Given the description of an element on the screen output the (x, y) to click on. 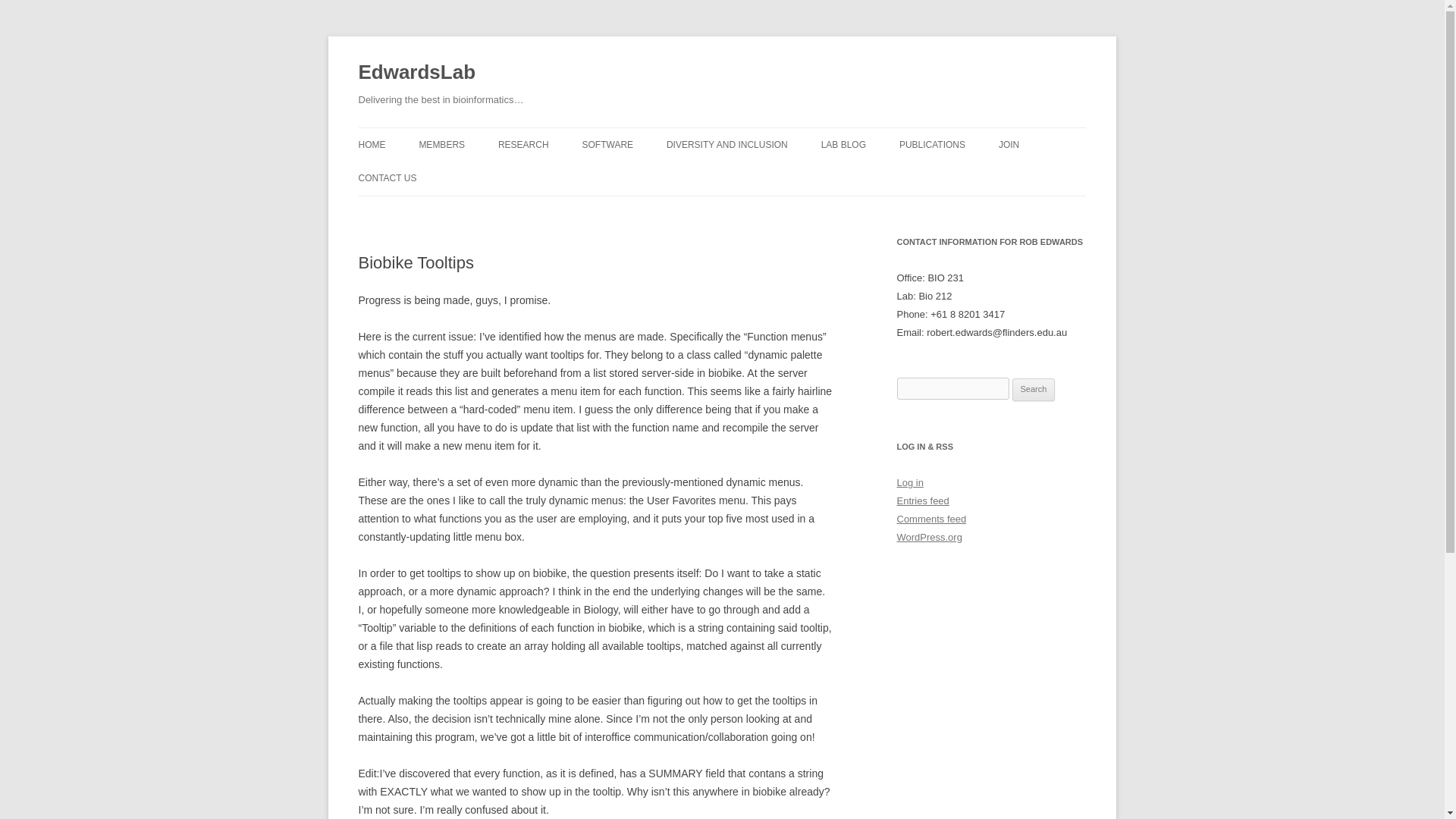
Entries feed (922, 500)
PUBLICATIONS (975, 176)
Comments feed (931, 518)
PRESS (573, 176)
Search (1033, 389)
EdwardsLab (417, 72)
PUBLICATIONS (932, 144)
BASH (896, 176)
RESEARCH (522, 144)
